Given the description of an element on the screen output the (x, y) to click on. 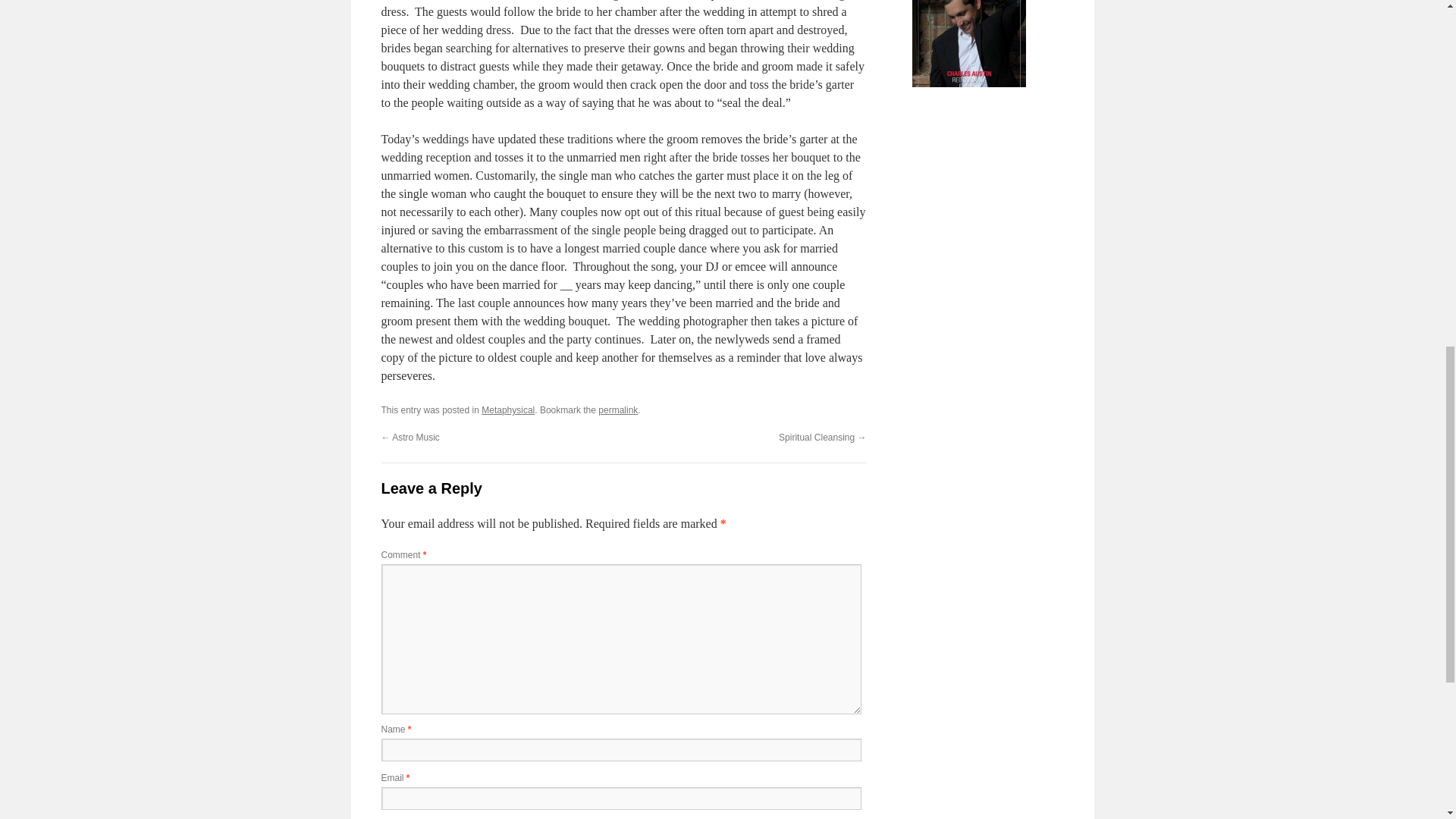
permalink (617, 409)
Permalink to Wedding Traditions and Superstitions (617, 409)
Metaphysical (507, 409)
